Given the description of an element on the screen output the (x, y) to click on. 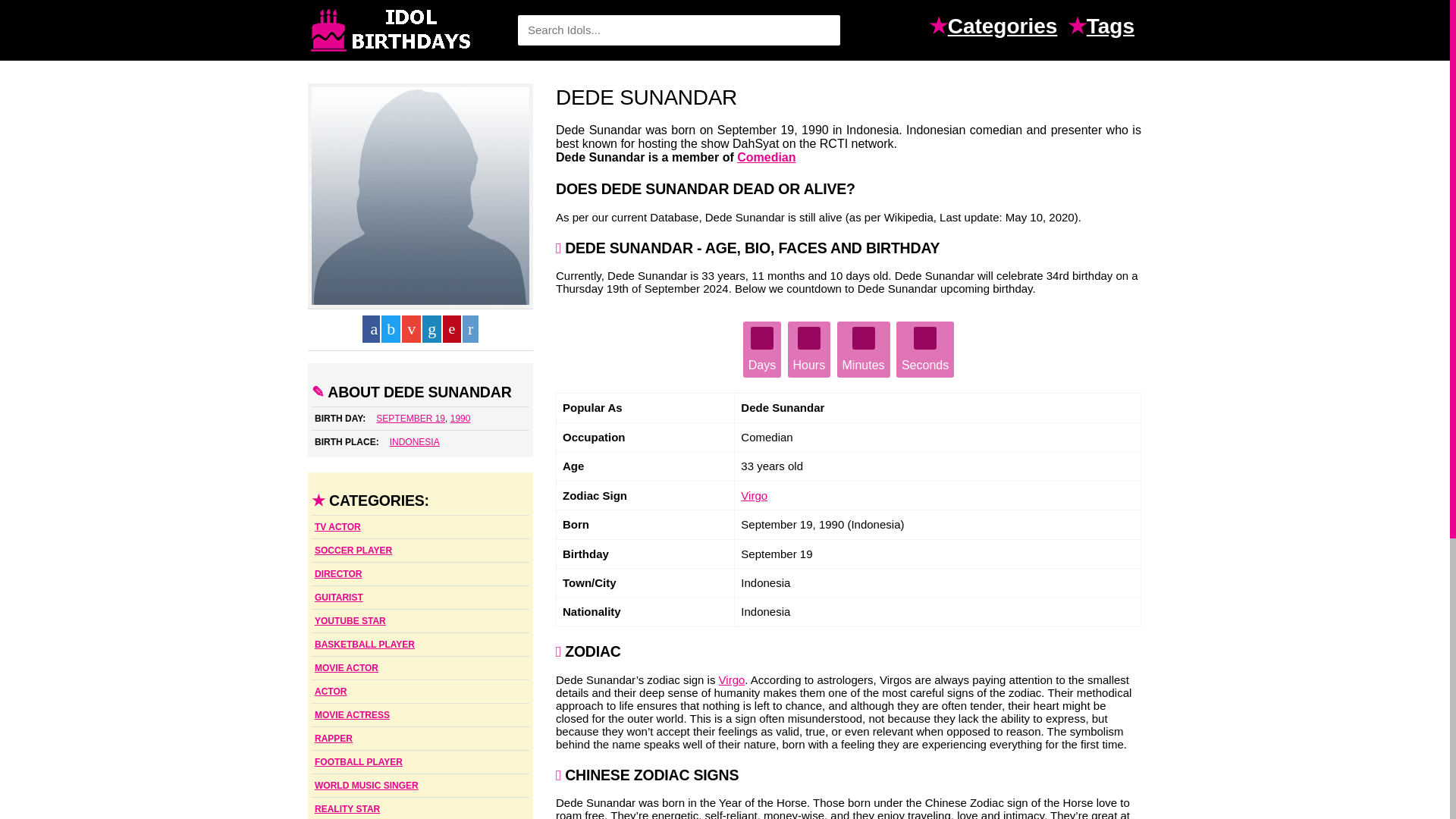
SEARCH (820, 30)
Tags (1113, 28)
Tags (1113, 28)
Dede Sunandar (420, 195)
Categories (1006, 28)
